Given the description of an element on the screen output the (x, y) to click on. 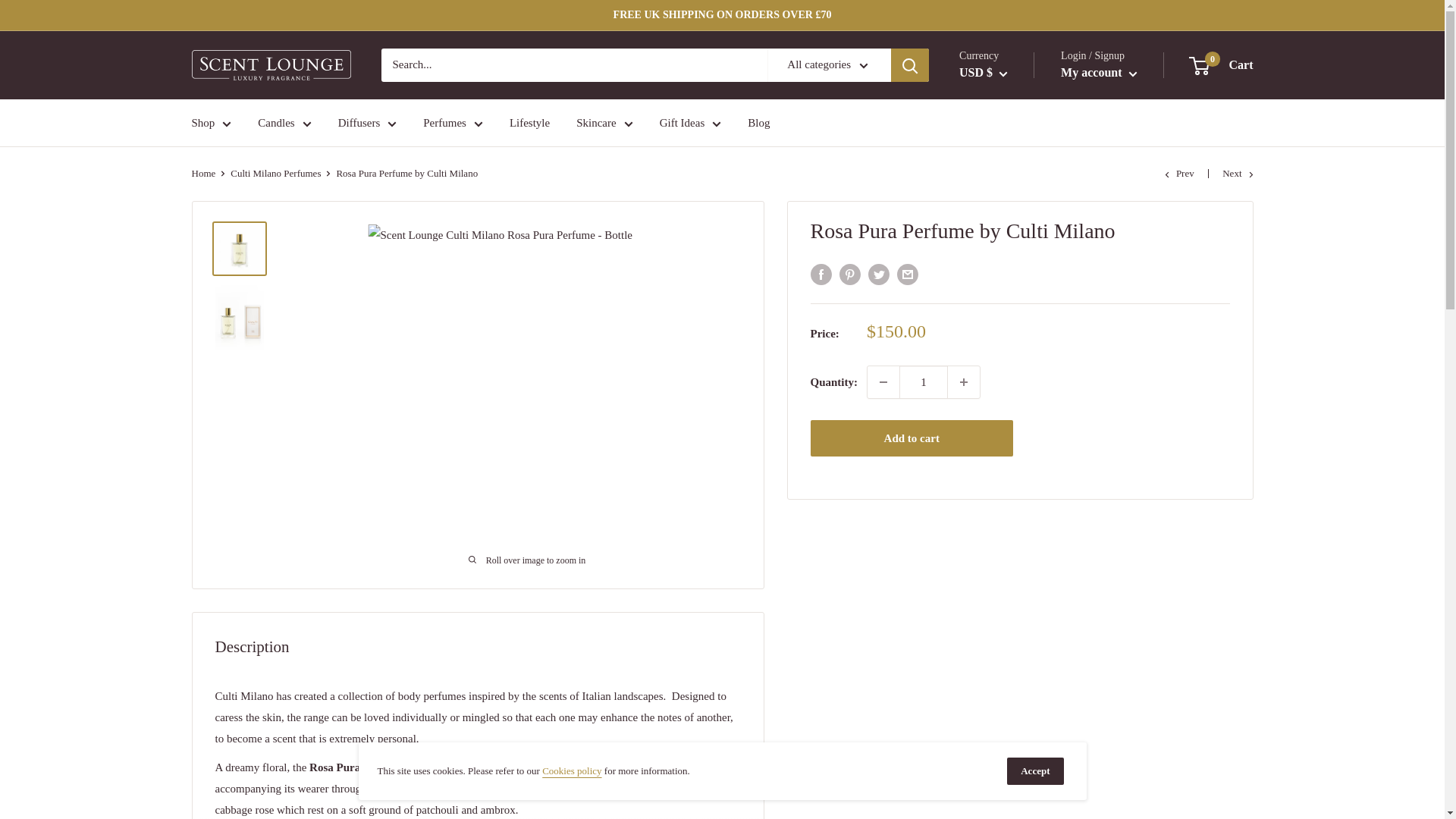
1 (923, 382)
Decrease quantity by 1 (883, 382)
Increase quantity by 1 (963, 382)
